Given the description of an element on the screen output the (x, y) to click on. 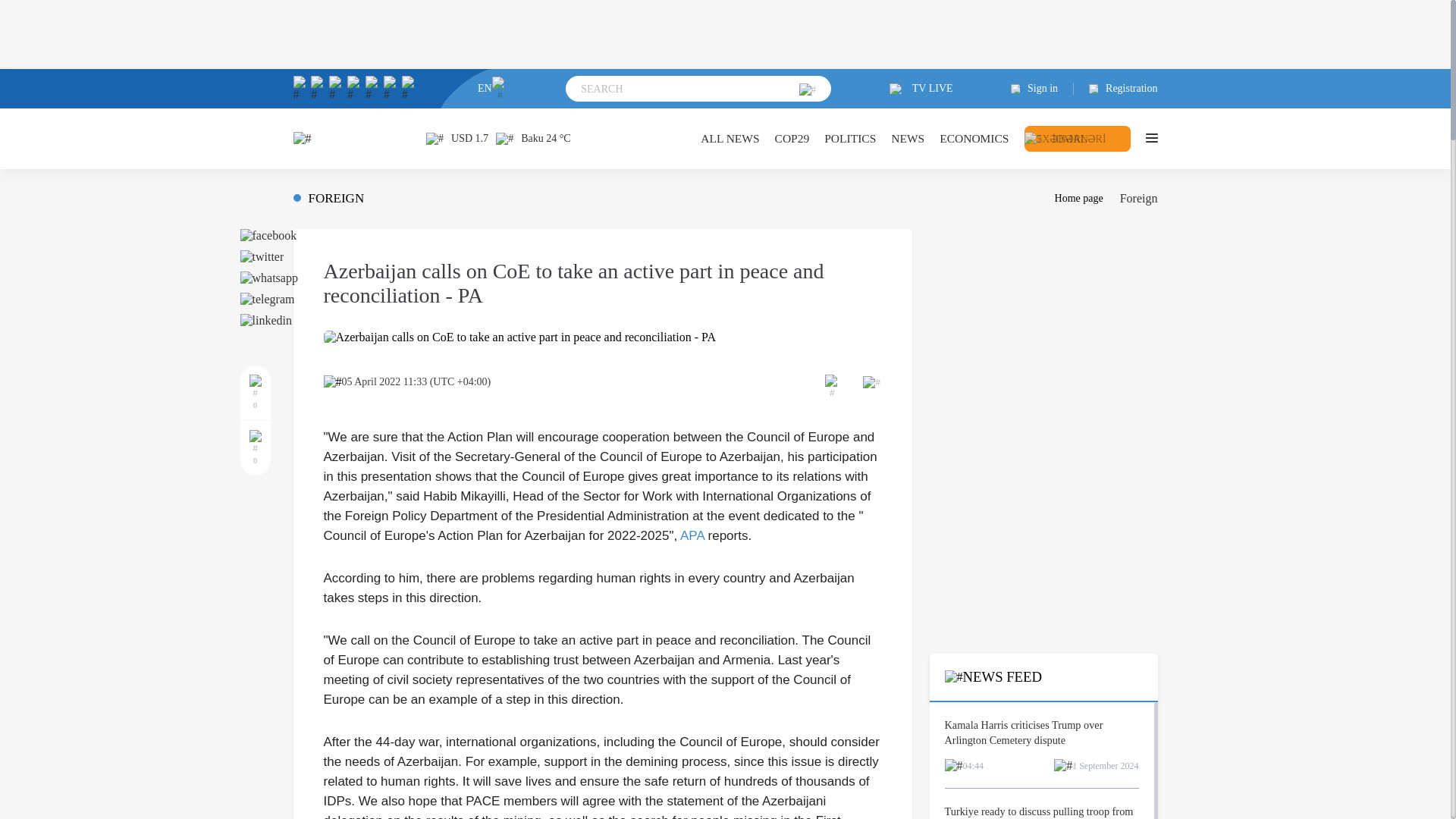
COP29 (791, 138)
POLITICS (850, 138)
Registration (1115, 88)
TV LIVE (921, 88)
USD 1.7 (456, 138)
ECONOMICS (974, 138)
ALL NEWS (729, 138)
Sign in (1042, 88)
NEWS (907, 138)
